Given the description of an element on the screen output the (x, y) to click on. 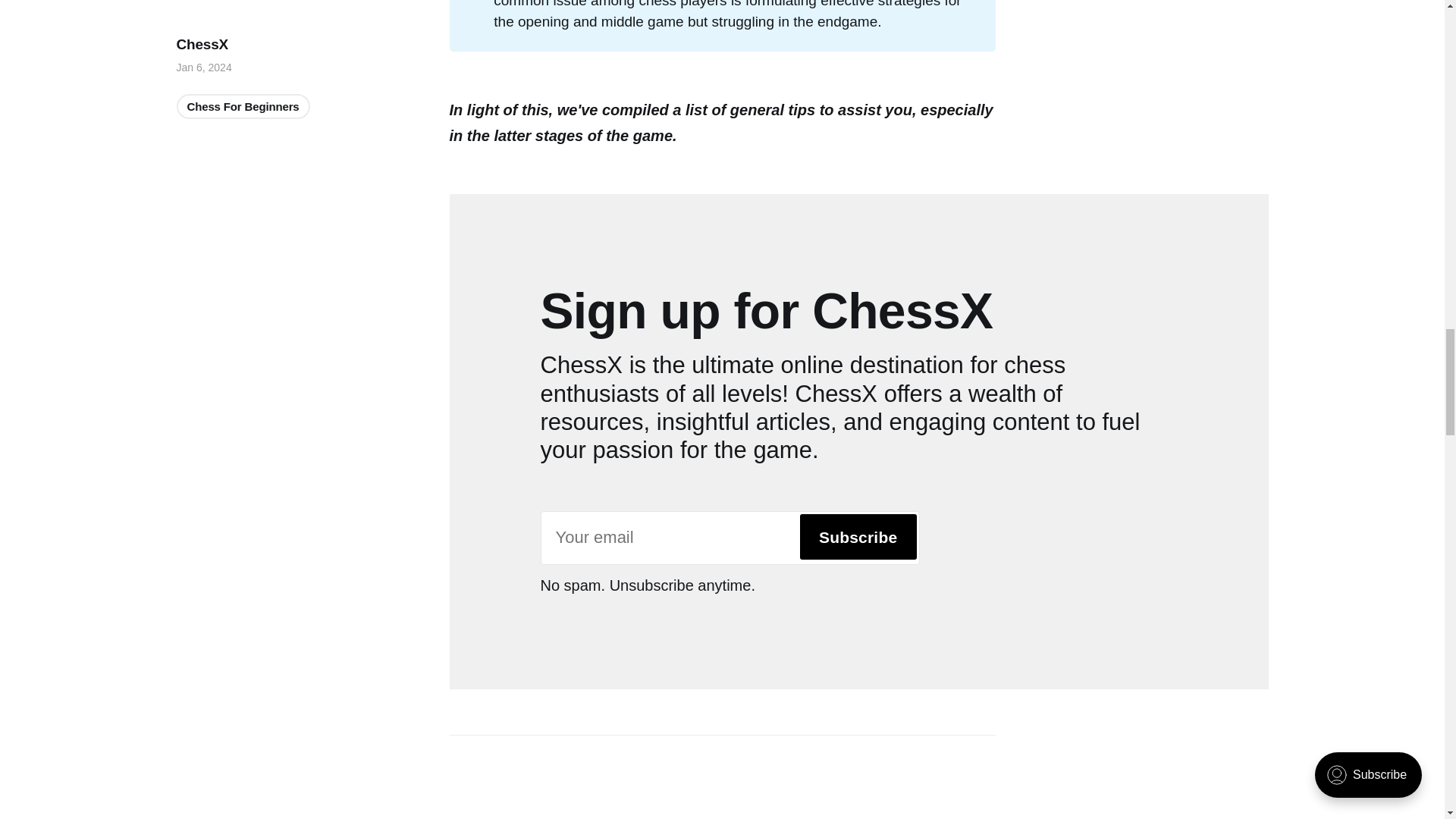
Subscribe (858, 537)
